Given the description of an element on the screen output the (x, y) to click on. 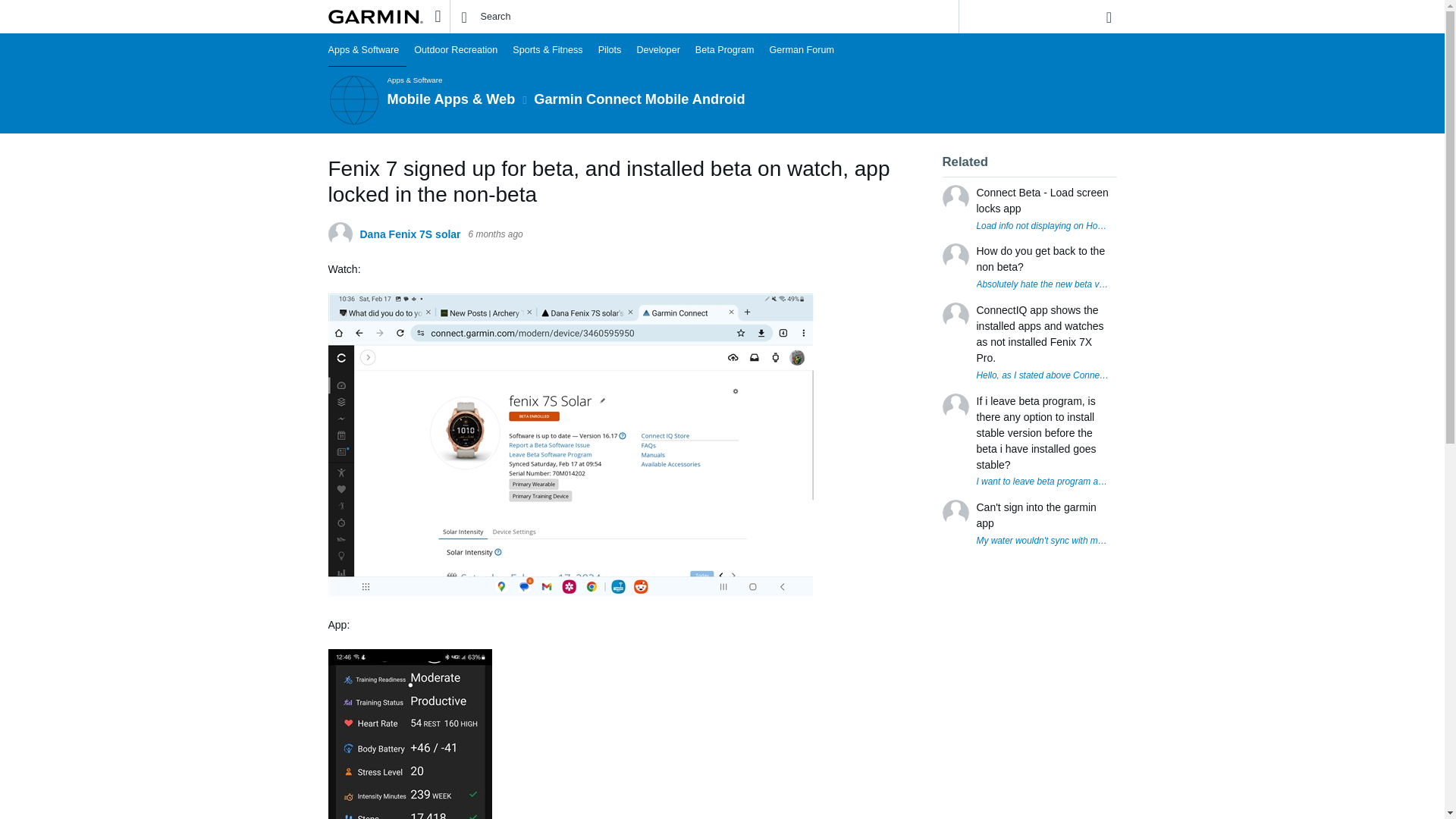
Can't sign into the garmin app (1042, 515)
Beta Program (724, 49)
Developer (657, 49)
User (1108, 17)
Site (437, 15)
How do you get back to the non beta? (1042, 259)
Groups (437, 15)
Outdoor Recreation (455, 49)
